Given the description of an element on the screen output the (x, y) to click on. 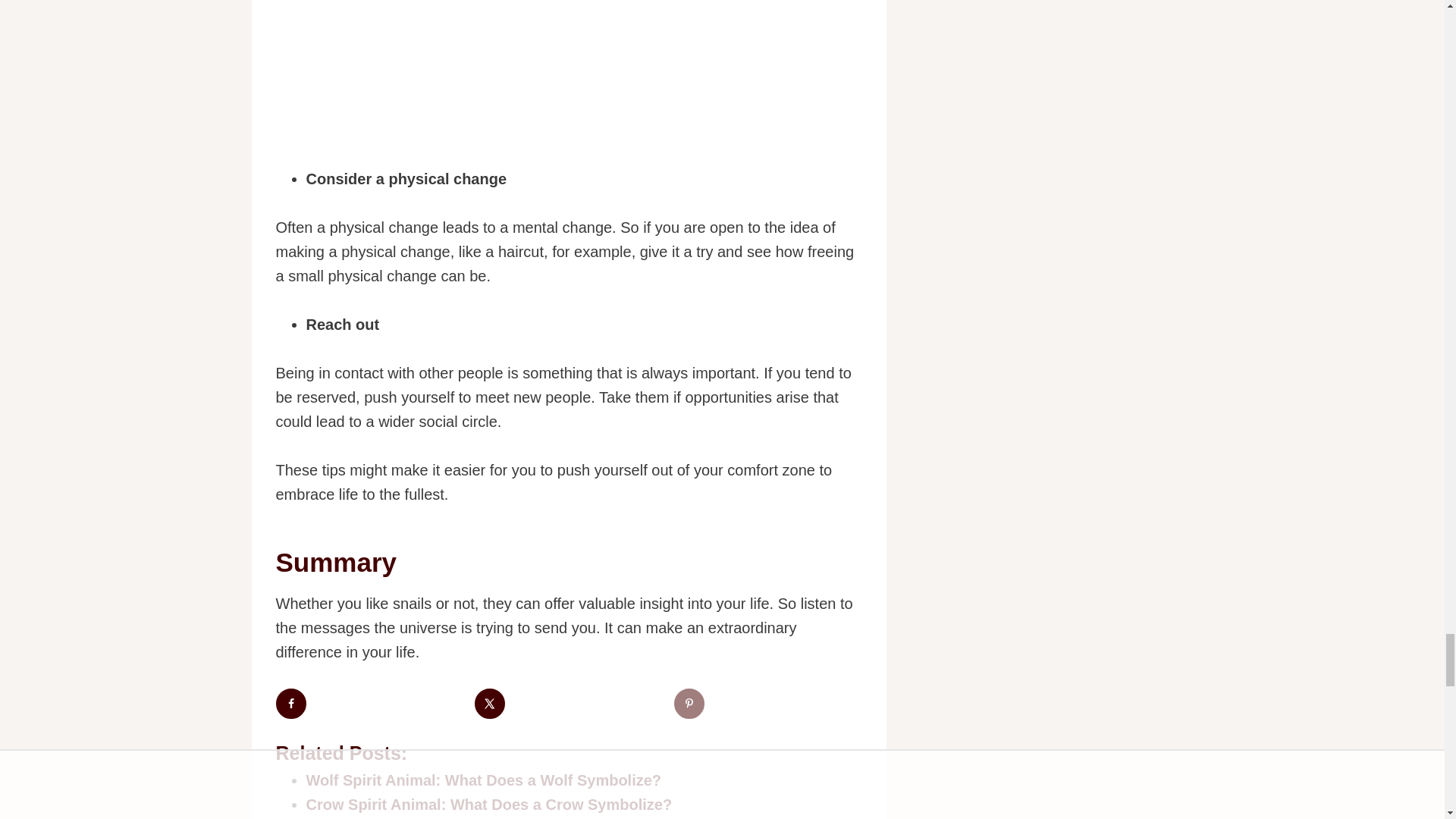
Share on X (489, 703)
Crow Spirit Animal: What Does a Crow Symbolize? (488, 804)
Share on Facebook (290, 703)
Wolf Spirit Animal: What Does a Wolf Symbolize? (483, 780)
Save to Pinterest (689, 703)
